Given the description of an element on the screen output the (x, y) to click on. 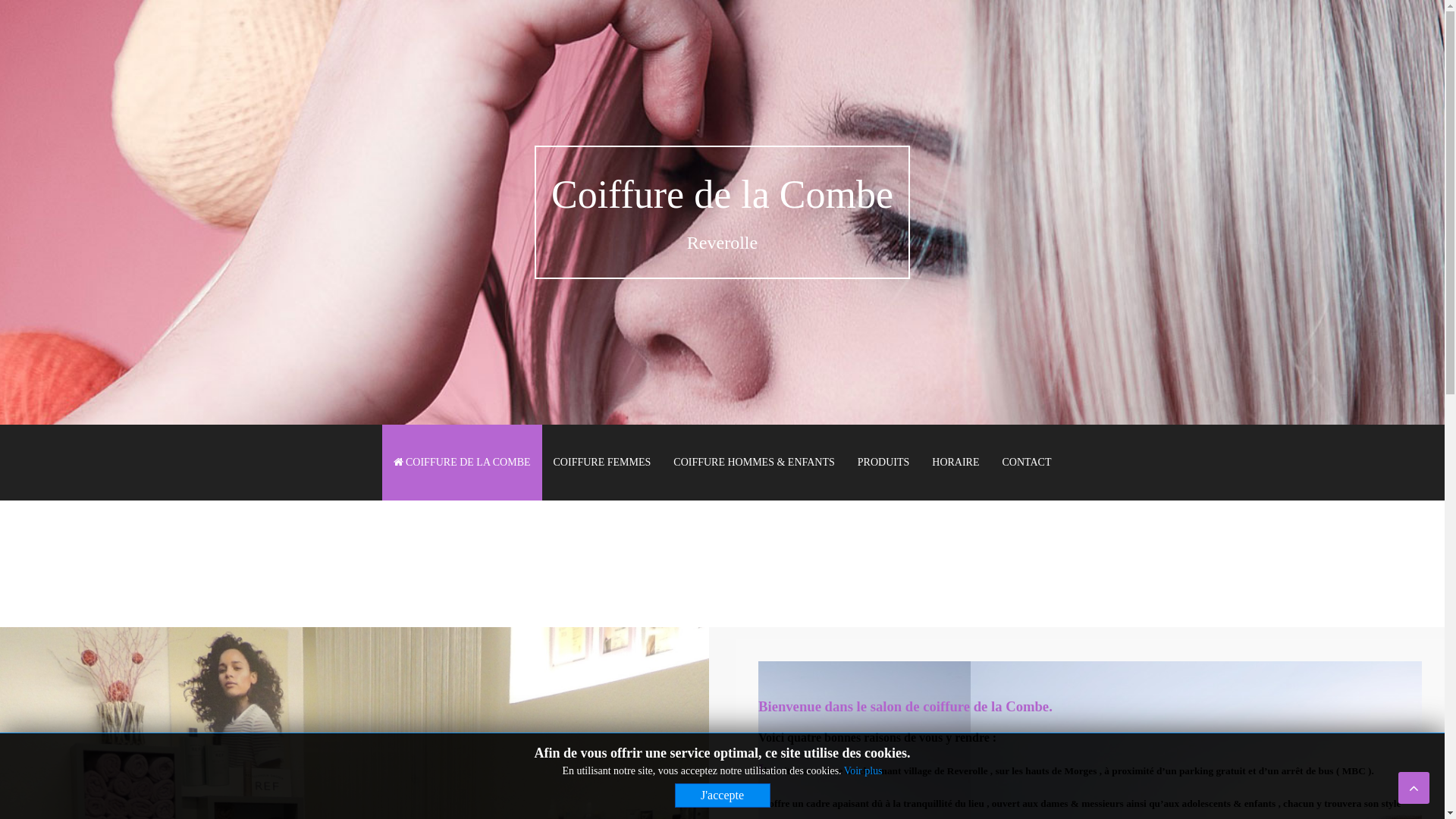
COIFFURE FEMMES Element type: text (602, 462)
Voir plus Element type: text (863, 770)
CONTACT Element type: text (1026, 462)
COIFFURE DE LA COMBE Element type: text (462, 462)
HORAIRE Element type: text (955, 462)
COIFFURE HOMMES & ENFANTS Element type: text (754, 462)
PRODUITS Element type: text (883, 462)
